Given the description of an element on the screen output the (x, y) to click on. 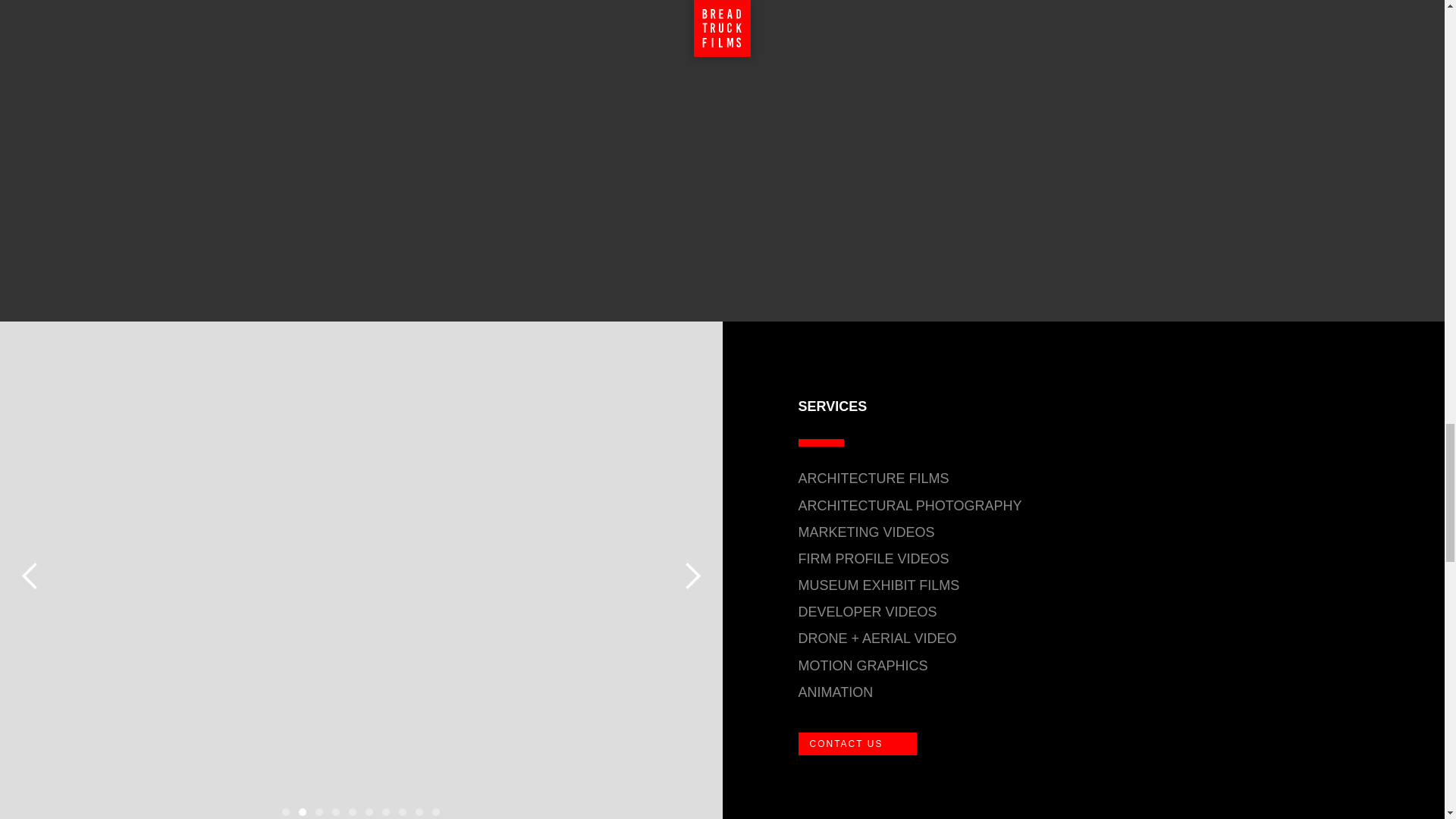
CONTACT US (857, 743)
